Given the description of an element on the screen output the (x, y) to click on. 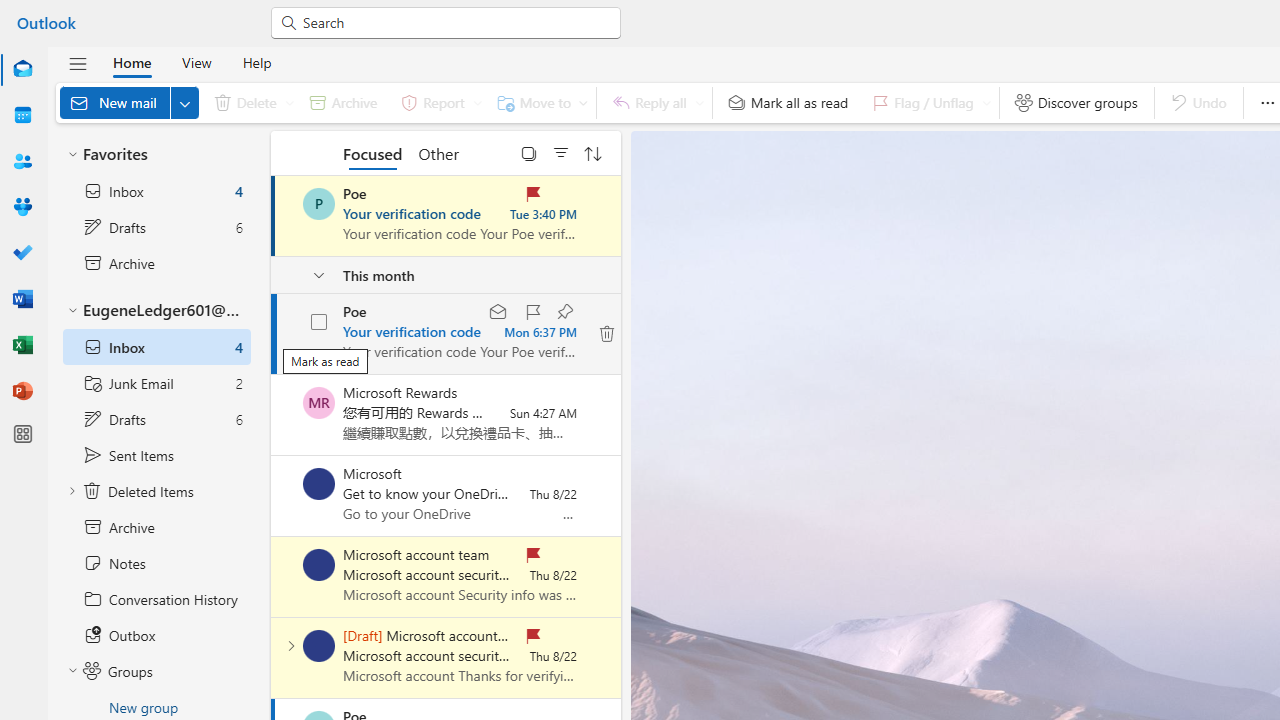
More apps (22, 434)
Search for email, meetings, files and more. (454, 21)
Class: KBPxt hn2lg (606, 333)
Home (132, 61)
System (10, 11)
Sorted: By Date (593, 152)
Focused (372, 152)
Expand to see flag options (985, 102)
Groups (22, 206)
Flag / Unflag (927, 102)
Microsoft (319, 483)
Mail (22, 69)
Mark as unread (273, 657)
AutomationID: checkbox-114 (319, 322)
